Given the description of an element on the screen output the (x, y) to click on. 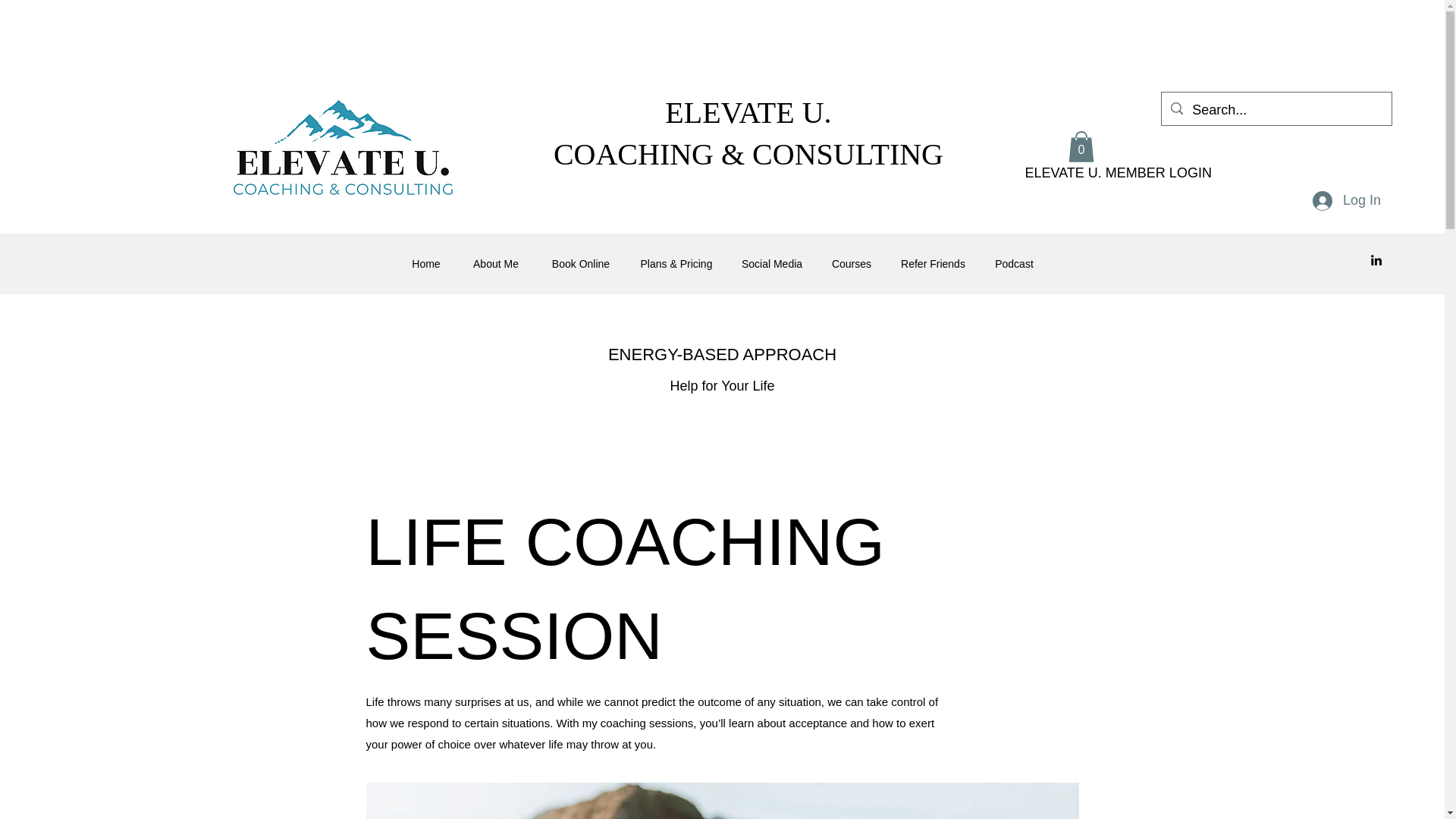
About Me (495, 264)
Podcast (1013, 264)
Refer Friends (932, 264)
Book Online (580, 264)
Home (425, 264)
Courses (850, 264)
Log In (1346, 200)
Social Media (771, 264)
